Given the description of an element on the screen output the (x, y) to click on. 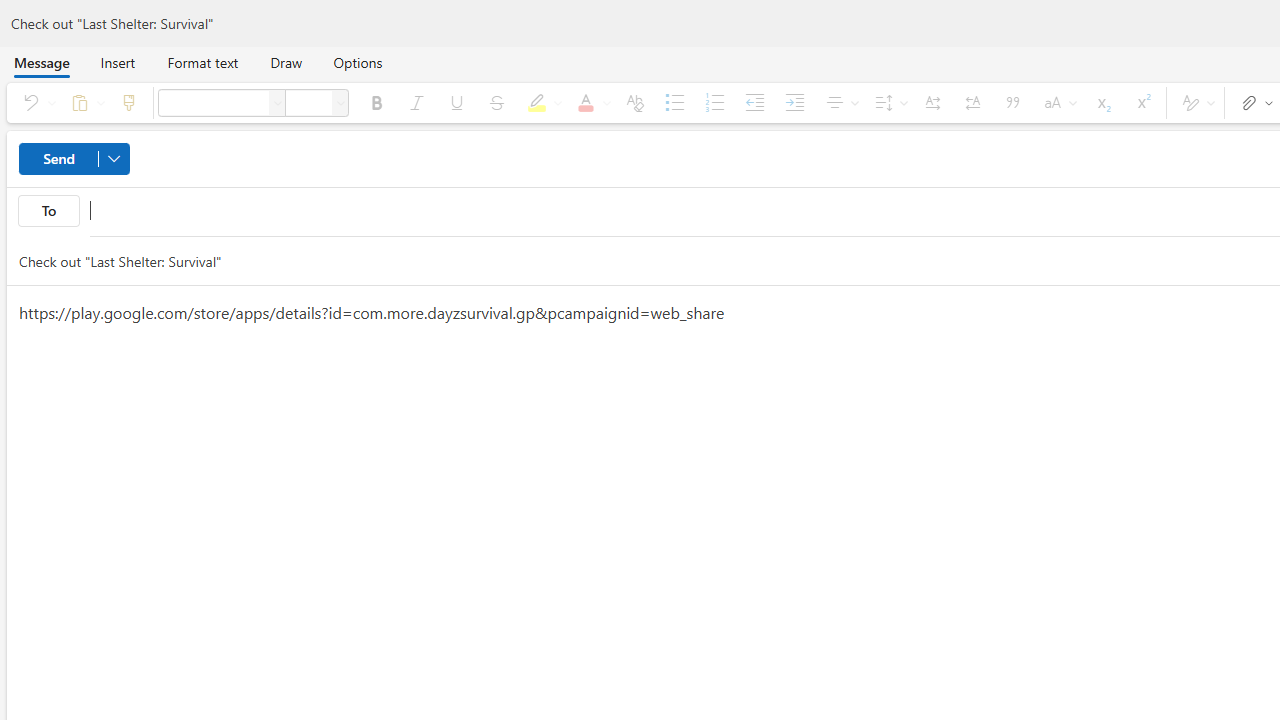
To (48, 210)
Font color (589, 102)
Align (839, 102)
Font (213, 102)
Quote (1012, 102)
Clear formatting (634, 102)
Underline (456, 102)
Attach file (1252, 102)
Bullets (675, 102)
Decrease indent (754, 102)
Text highlight color (541, 102)
More send options (114, 158)
Insert (117, 61)
Paste (84, 102)
